Given the description of an element on the screen output the (x, y) to click on. 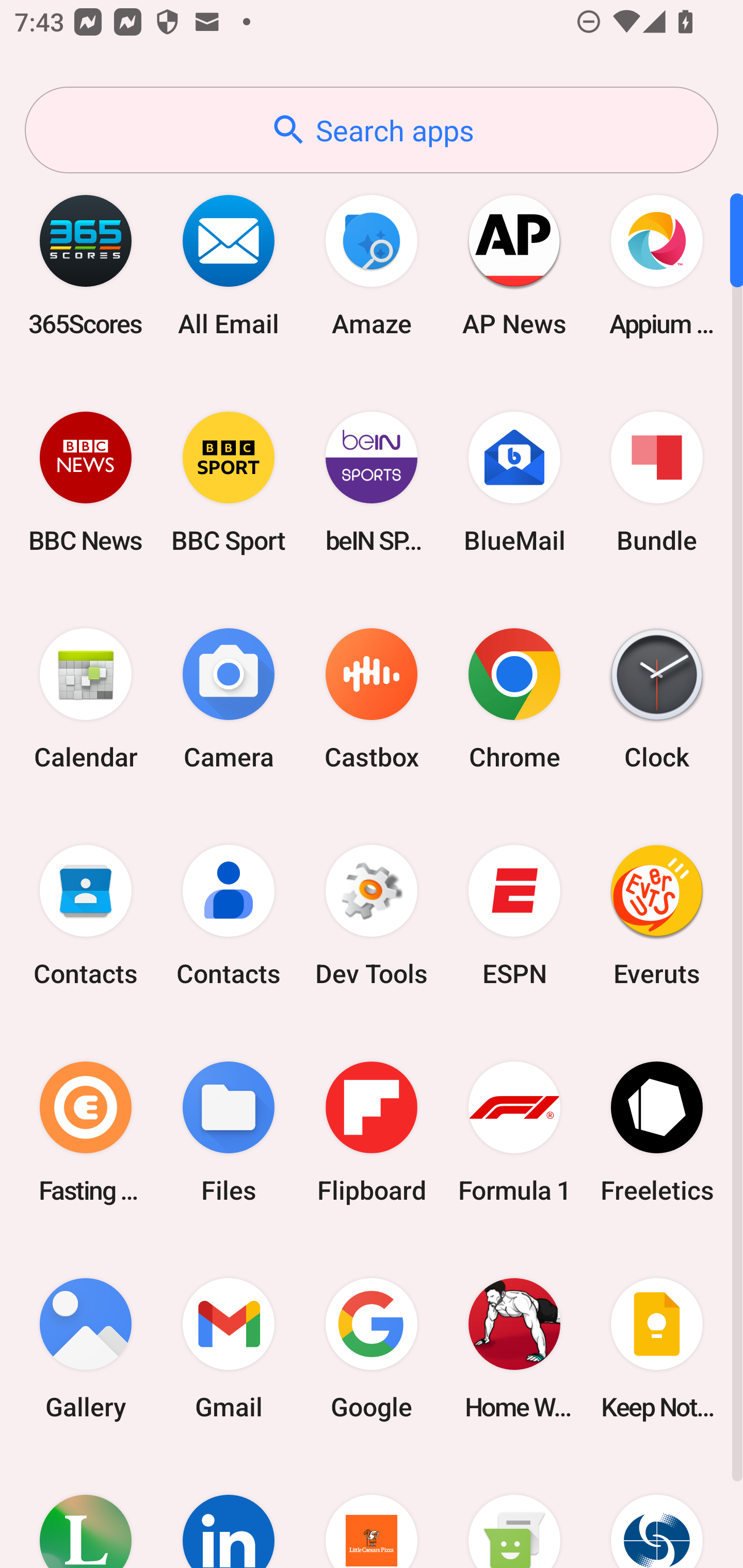
  Search apps (371, 130)
365Scores (85, 264)
All Email (228, 264)
Amaze (371, 264)
AP News (514, 264)
Appium Settings (656, 264)
BBC News (85, 482)
BBC Sport (228, 482)
beIN SPORTS (371, 482)
BlueMail (514, 482)
Bundle (656, 482)
Calendar (85, 699)
Camera (228, 699)
Castbox (371, 699)
Chrome (514, 699)
Clock (656, 699)
Contacts (85, 915)
Contacts (228, 915)
Dev Tools (371, 915)
ESPN (514, 915)
Everuts (656, 915)
Fasting Coach (85, 1131)
Files (228, 1131)
Flipboard (371, 1131)
Formula 1 (514, 1131)
Freeletics (656, 1131)
Gallery (85, 1348)
Gmail (228, 1348)
Google (371, 1348)
Home Workout (514, 1348)
Keep Notes (656, 1348)
